Given the description of an element on the screen output the (x, y) to click on. 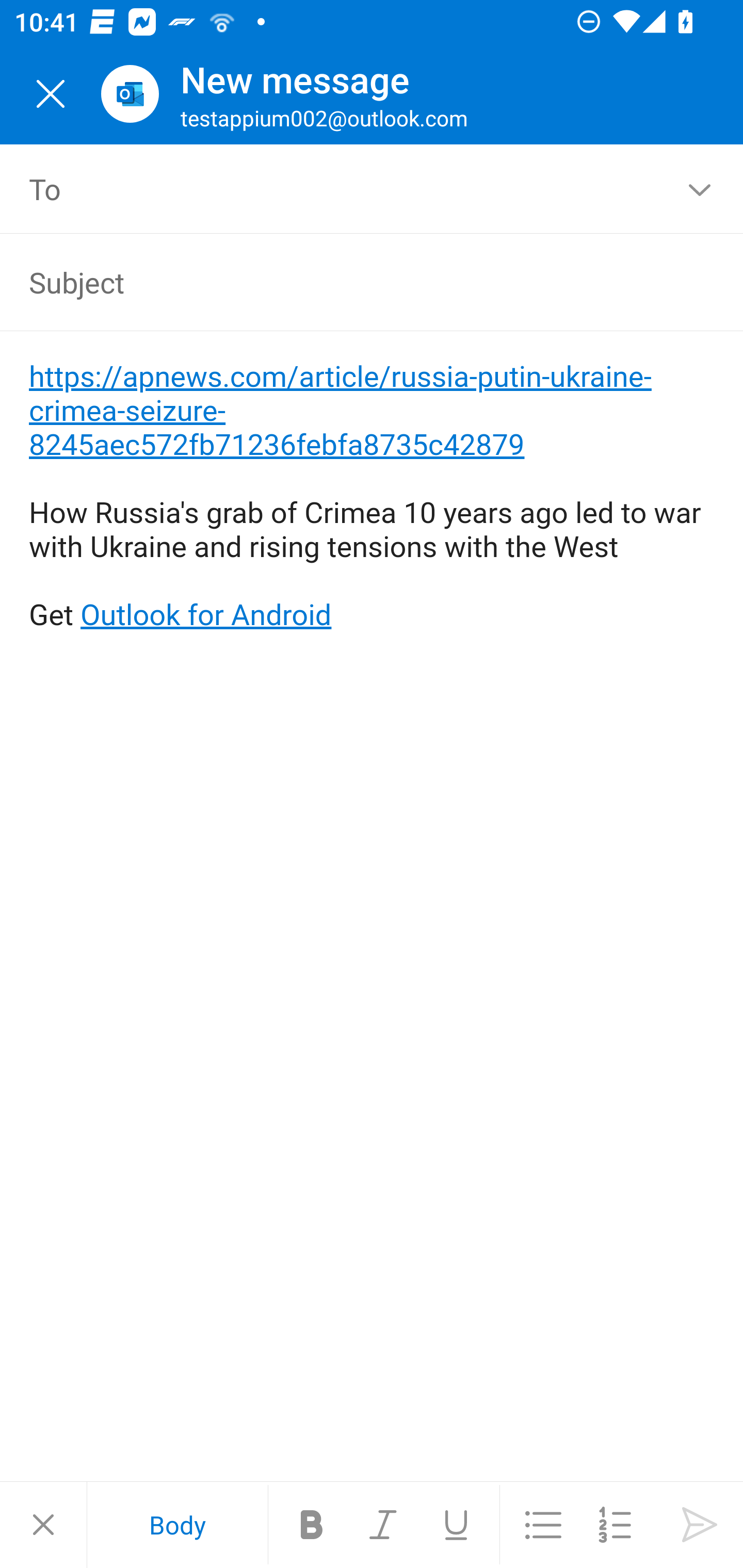
Close (50, 93)
Subject (342, 281)
Close (43, 1524)
Send (699, 1524)
Font style button body Body (176, 1524)
Bold (311, 1524)
Italics (384, 1524)
Underline (456, 1524)
Bulleted list (543, 1524)
Numbered list (615, 1524)
